Given the description of an element on the screen output the (x, y) to click on. 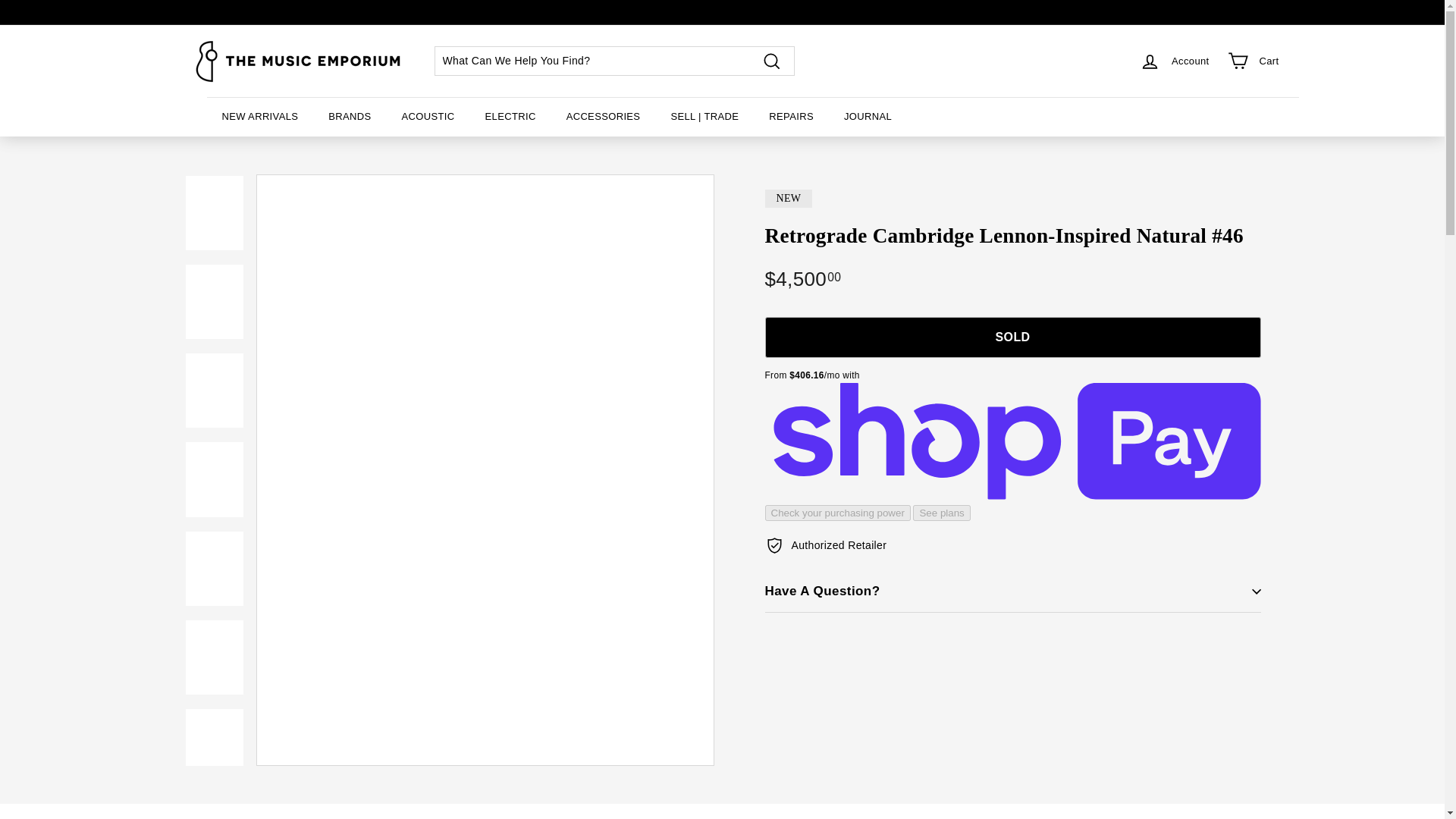
Account (1174, 60)
NEW ARRIVALS (259, 116)
BRANDS (349, 116)
